Given the description of an element on the screen output the (x, y) to click on. 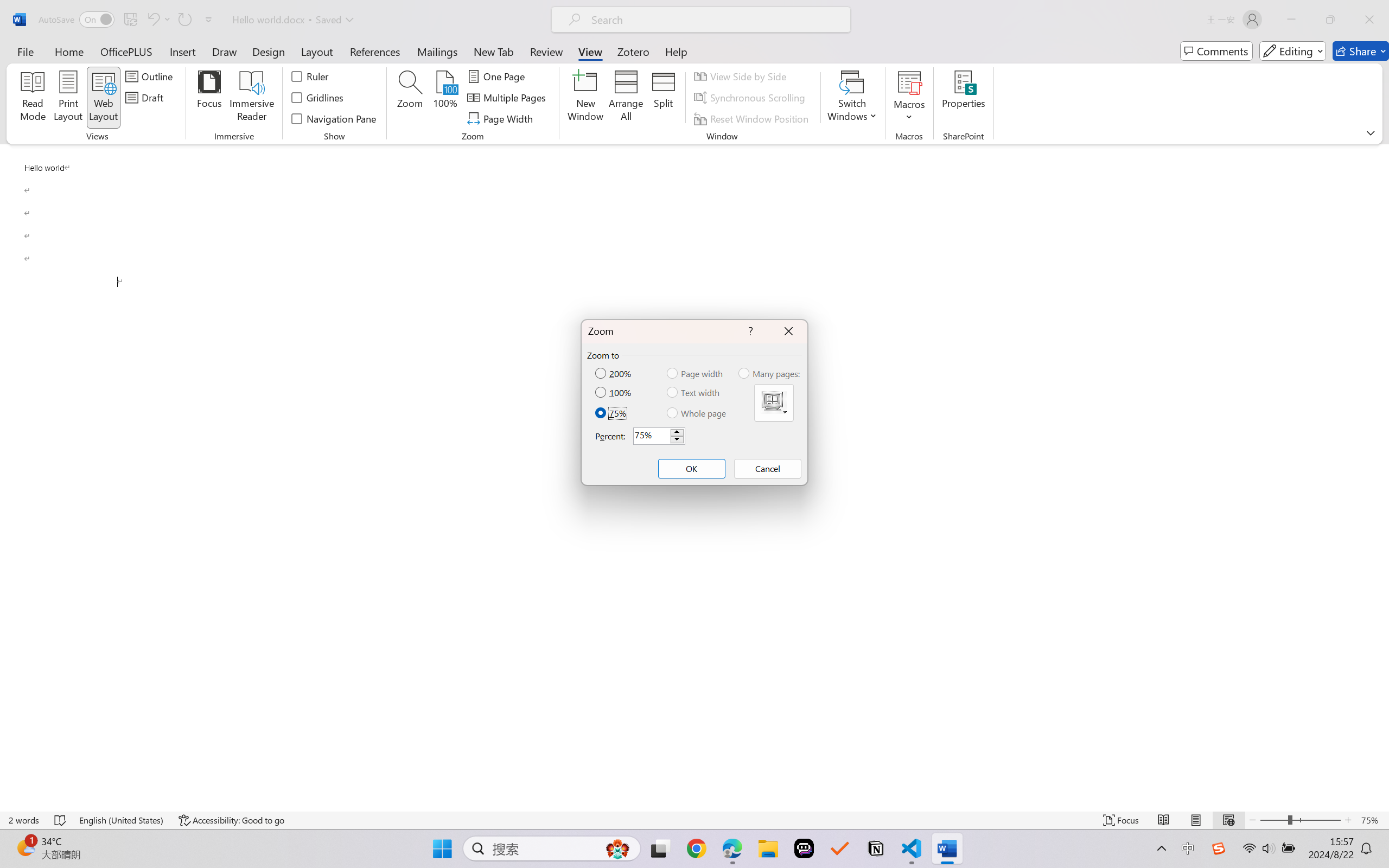
Print Layout (1196, 819)
Customize Quick Access Toolbar (208, 19)
Many pages: (769, 373)
Macros (909, 97)
Synchronous Scrolling (751, 97)
100% (614, 392)
Word Count 2 words (23, 819)
Percent: (658, 435)
Focus  (1121, 819)
Help (675, 51)
Cancel (767, 468)
Home (69, 51)
View (589, 51)
Layout (316, 51)
